Given the description of an element on the screen output the (x, y) to click on. 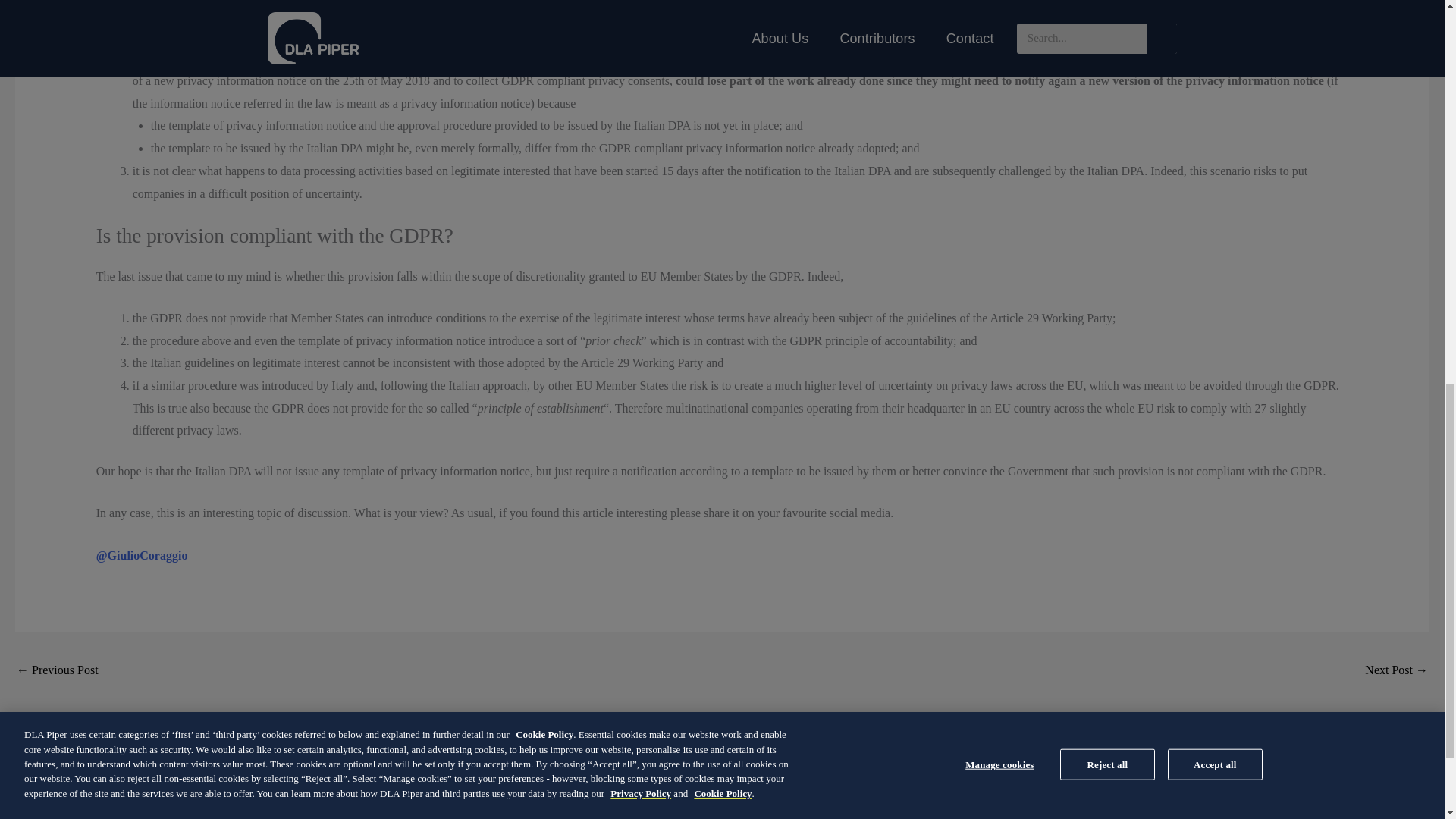
Legislative Decree no. 63 of 11 May 2018 (57, 671)
Visit dlapiper.com (616, 786)
Facebook (943, 786)
Youtube (1057, 786)
Linkedin (829, 786)
Legal Notices (429, 786)
Top 5 Internet of Things predictions for 2018 (1396, 671)
Cookie Policy (341, 786)
Weixin (1114, 786)
Privacy Policy (517, 786)
